Given the description of an element on the screen output the (x, y) to click on. 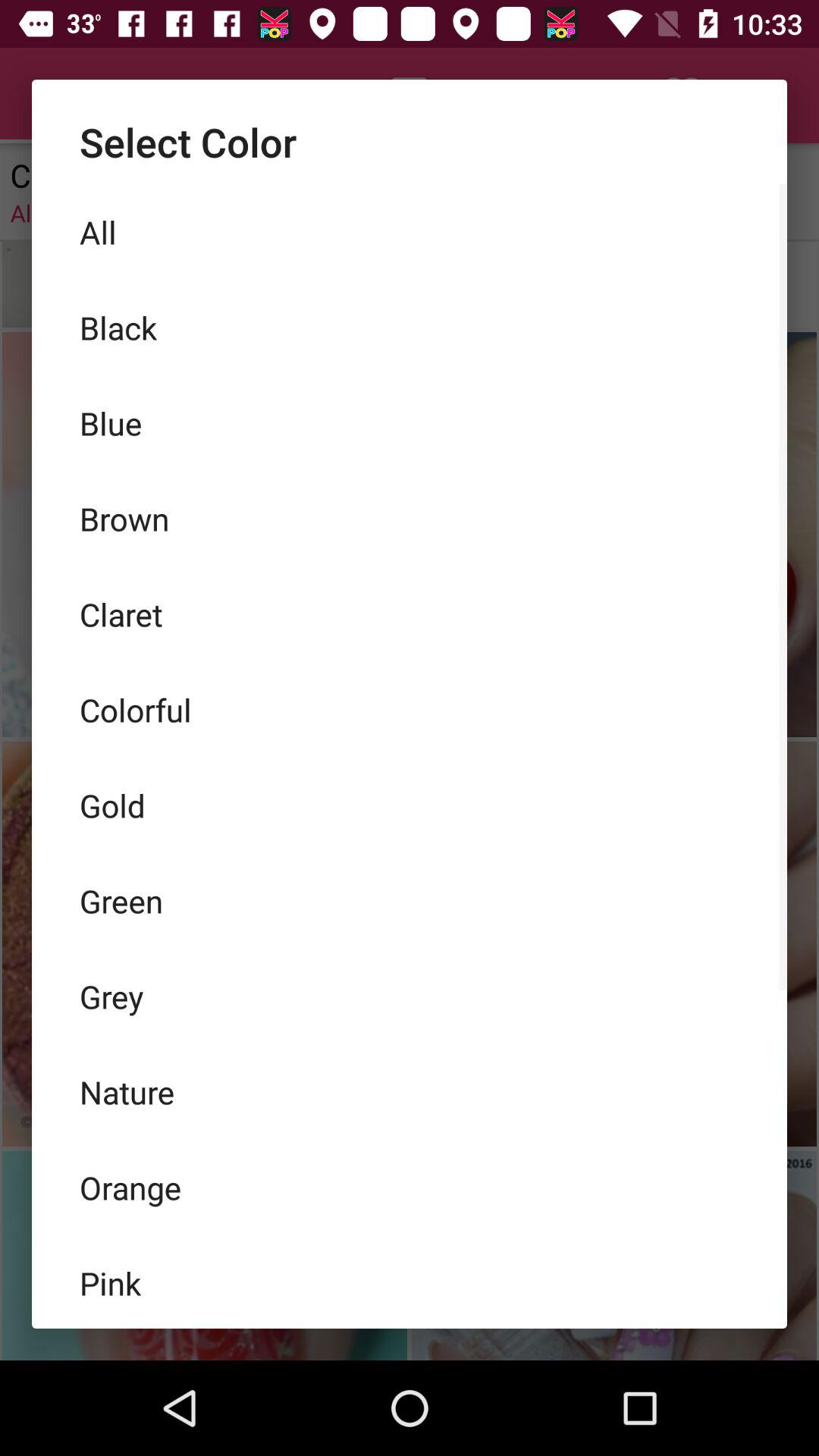
turn off icon below gold icon (409, 900)
